Given the description of an element on the screen output the (x, y) to click on. 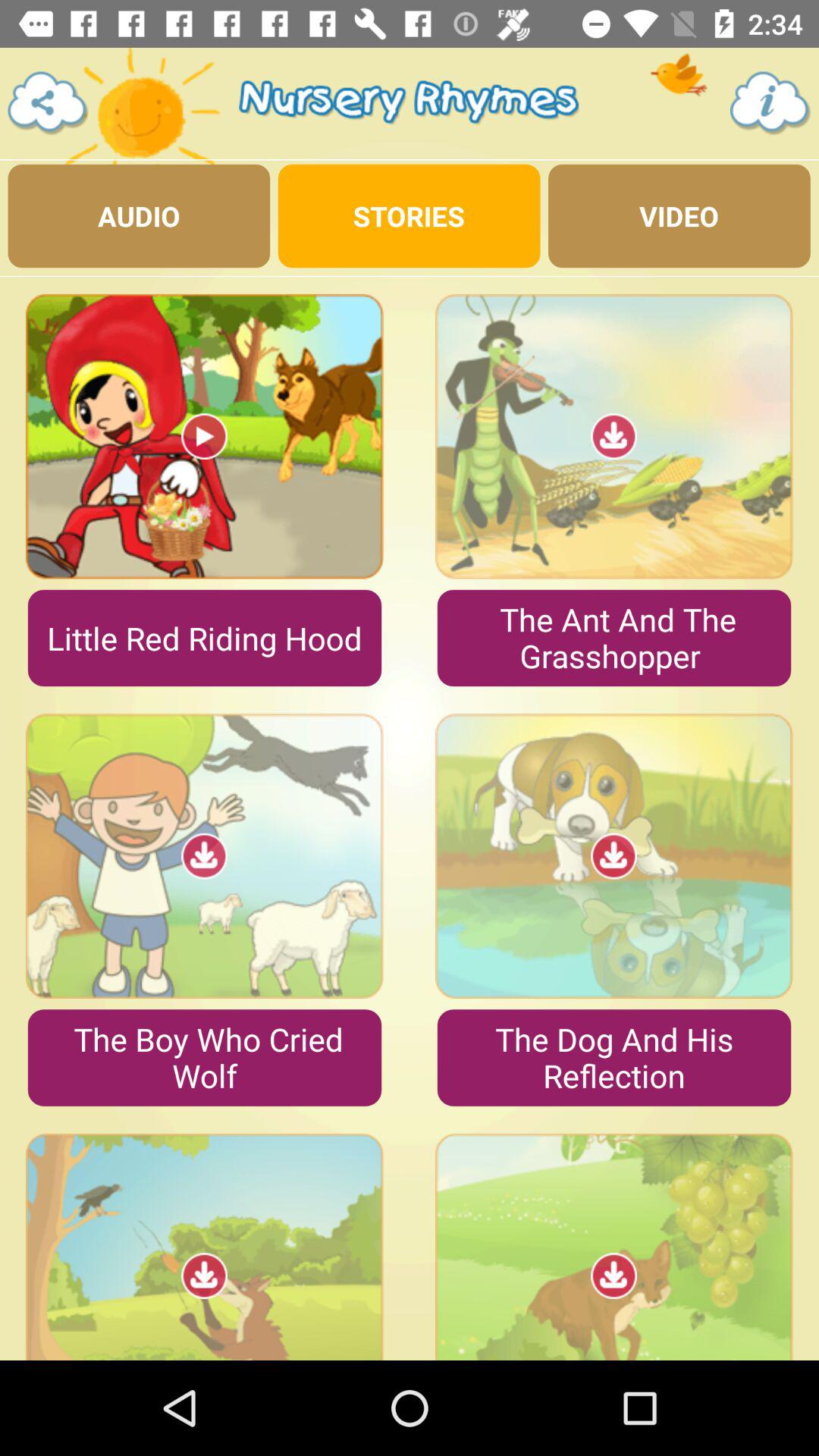
sharing button (47, 103)
